Given the description of an element on the screen output the (x, y) to click on. 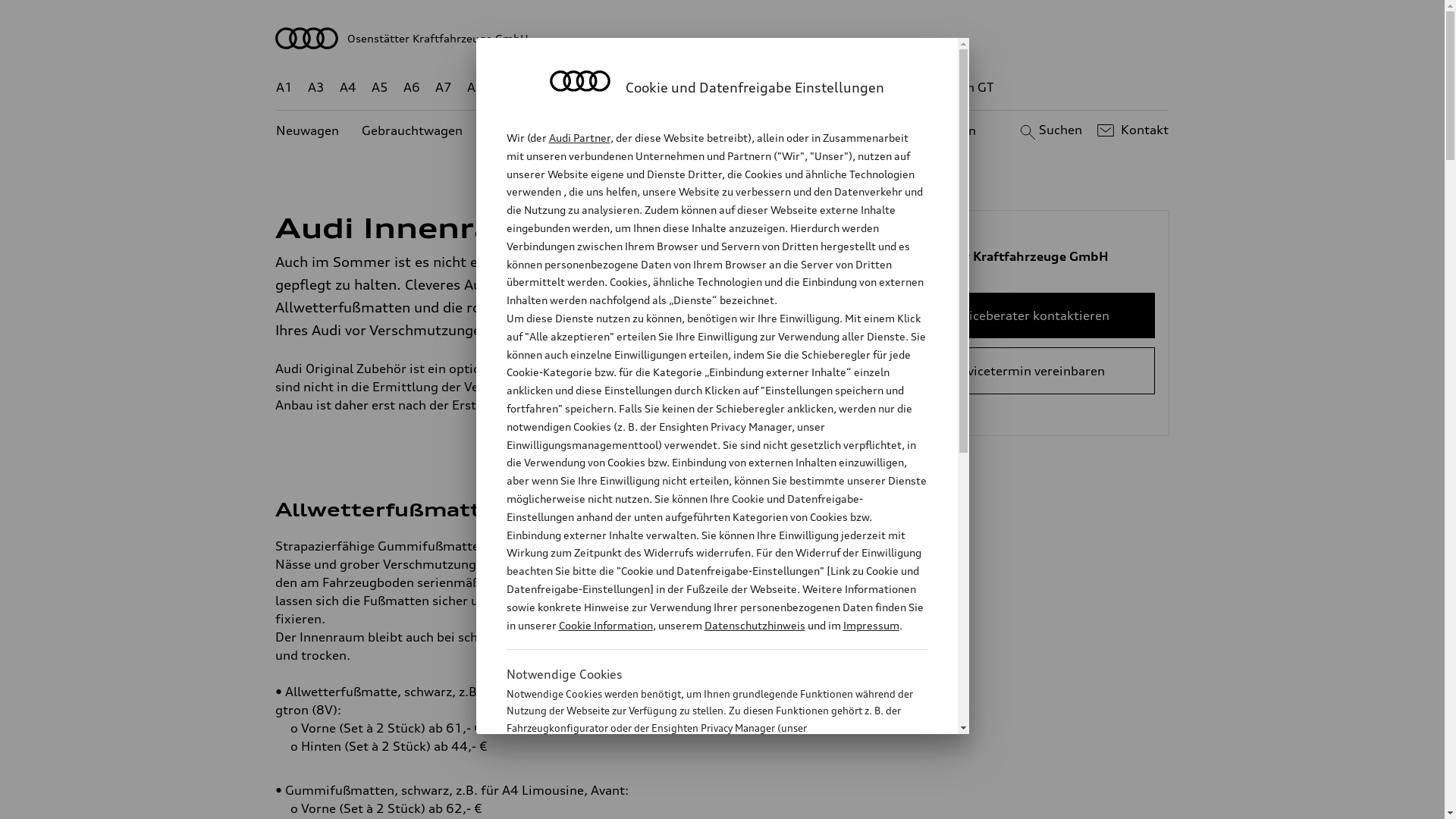
Gebrauchtwagen Element type: text (411, 130)
Q2 Element type: text (507, 87)
Impressum Element type: text (871, 624)
g-tron Element type: text (903, 87)
Q7 Element type: text (678, 87)
Audi Partner Element type: text (579, 137)
e-tron GT Element type: text (965, 87)
A1 Element type: text (284, 87)
Cookie Information Element type: text (605, 624)
Q4 e-tron Element type: text (592, 87)
A3 Element type: text (315, 87)
Datenschutzhinweis Element type: text (753, 624)
Q3 Element type: text (540, 87)
A8 Element type: text (475, 87)
A6 Element type: text (411, 87)
Serviceberater kontaktieren Element type: text (1025, 315)
A7 Element type: text (443, 87)
Q8 Element type: text (710, 87)
Angebote Element type: text (636, 130)
Servicetermin vereinbaren Element type: text (1025, 370)
Kontakt Element type: text (1130, 130)
Q8 e-tron Element type: text (763, 87)
Neuwagen Element type: text (307, 130)
Suchen Element type: text (1049, 130)
A4 Element type: text (347, 87)
A5 Element type: text (379, 87)
TT Element type: text (814, 87)
Cookie Information Element type: text (700, 802)
RS Element type: text (861, 87)
Kundenservice Element type: text (730, 130)
Q5 Element type: text (645, 87)
